Given the description of an element on the screen output the (x, y) to click on. 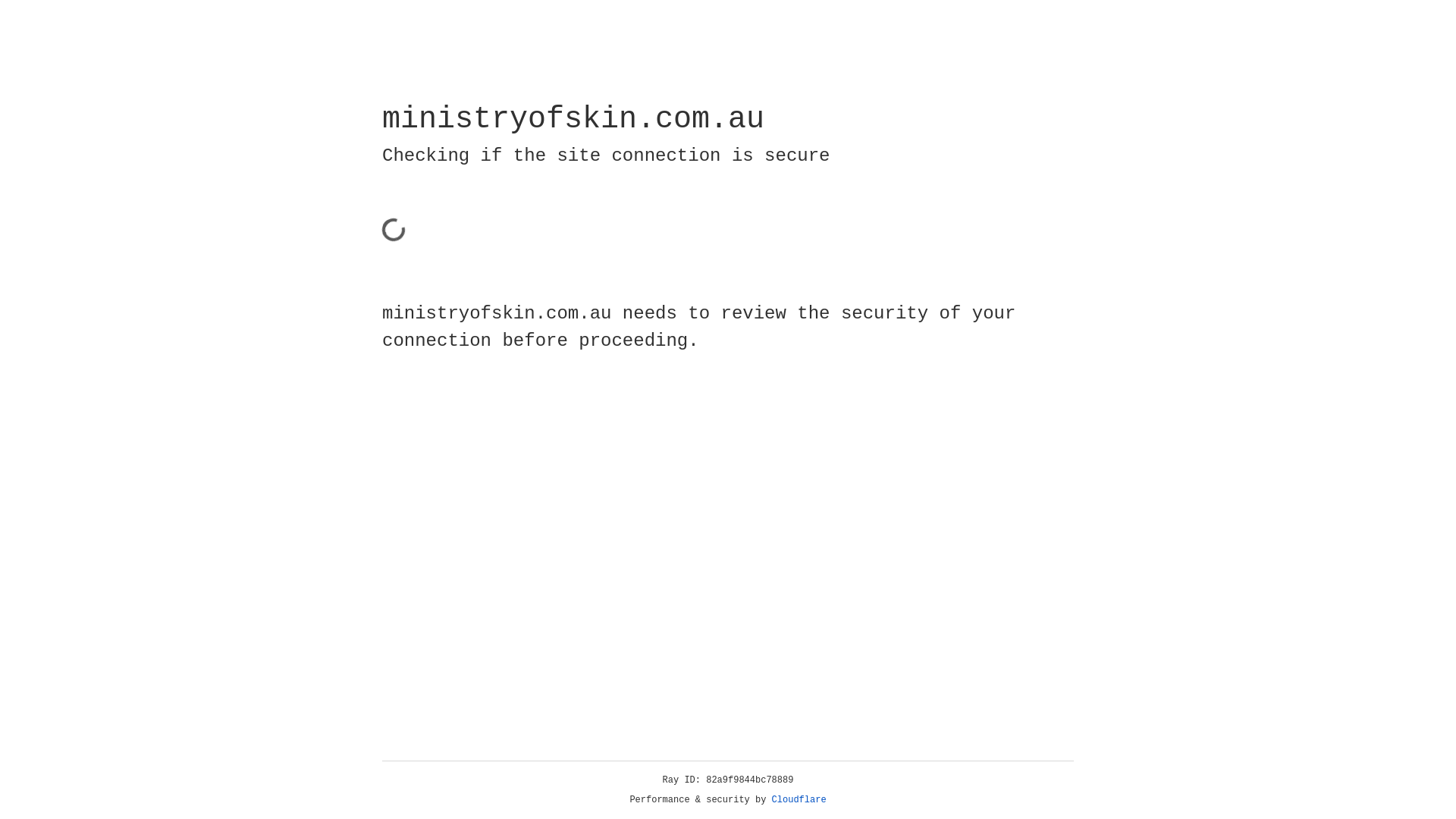
Cloudflare Element type: text (798, 799)
